Given the description of an element on the screen output the (x, y) to click on. 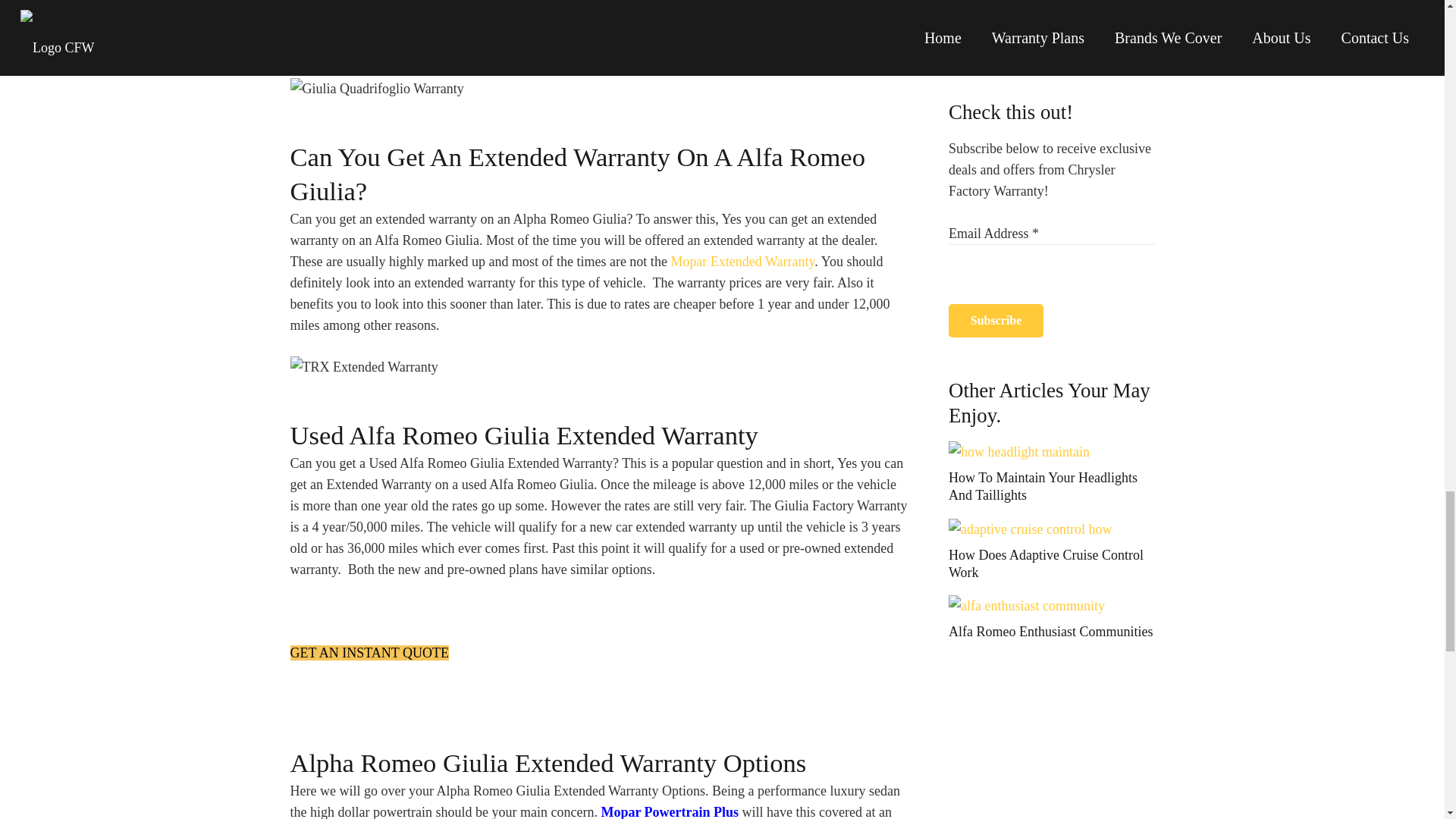
Mopar Powertrain Plus (668, 811)
GET AN INSTANT QUOTE (368, 652)
Mopar Extended Warranty (741, 261)
